Given the description of an element on the screen output the (x, y) to click on. 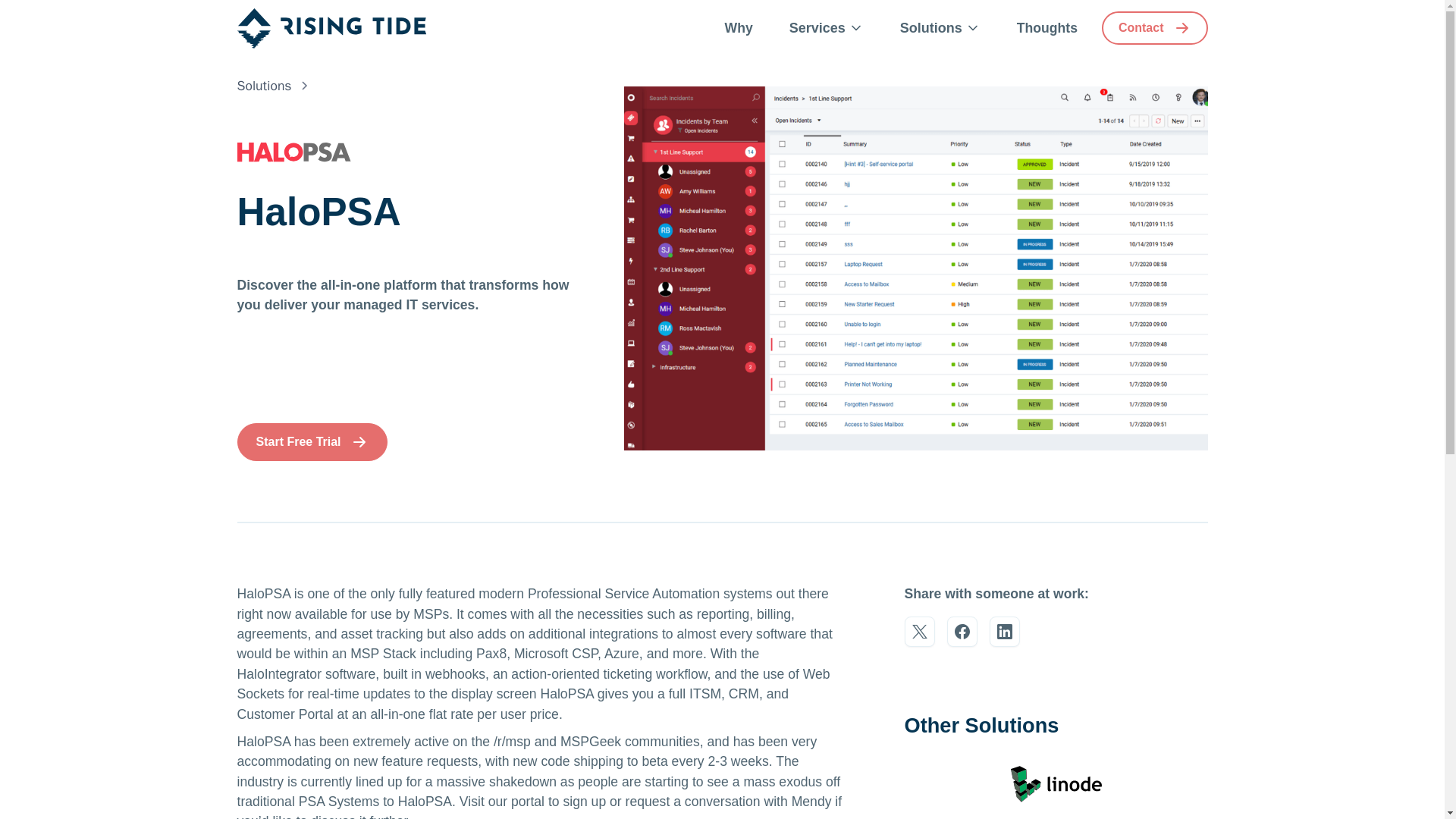
Contact (1155, 28)
Solutions (263, 85)
Start Free Trial (311, 442)
Why (739, 28)
Thoughts (1046, 28)
